Given the description of an element on the screen output the (x, y) to click on. 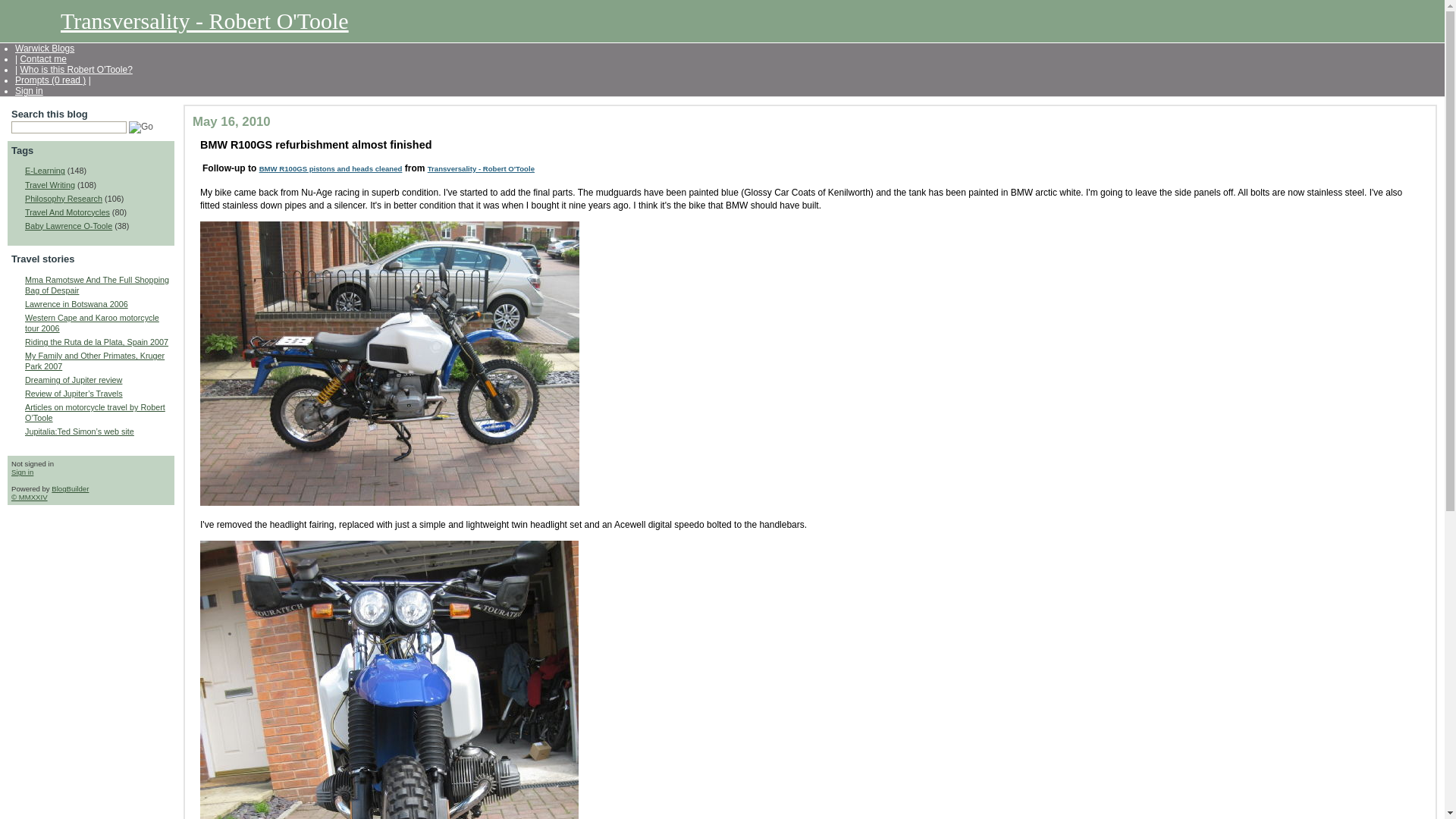
BlogBuilder home page (69, 488)
Mma Ramotswe And The Full Shopping Bag of Despair (96, 284)
Related blog entry (331, 168)
Transversality - Robert O'Toole (481, 168)
Travel And Motorcycles (67, 212)
Transversality - Robert O'Toole (205, 20)
E-Learning (44, 170)
Lawrence in Botswana 2006 (76, 303)
Western Cape and Karoo motorcycle tour 2006 (67, 212)
